Given the description of an element on the screen output the (x, y) to click on. 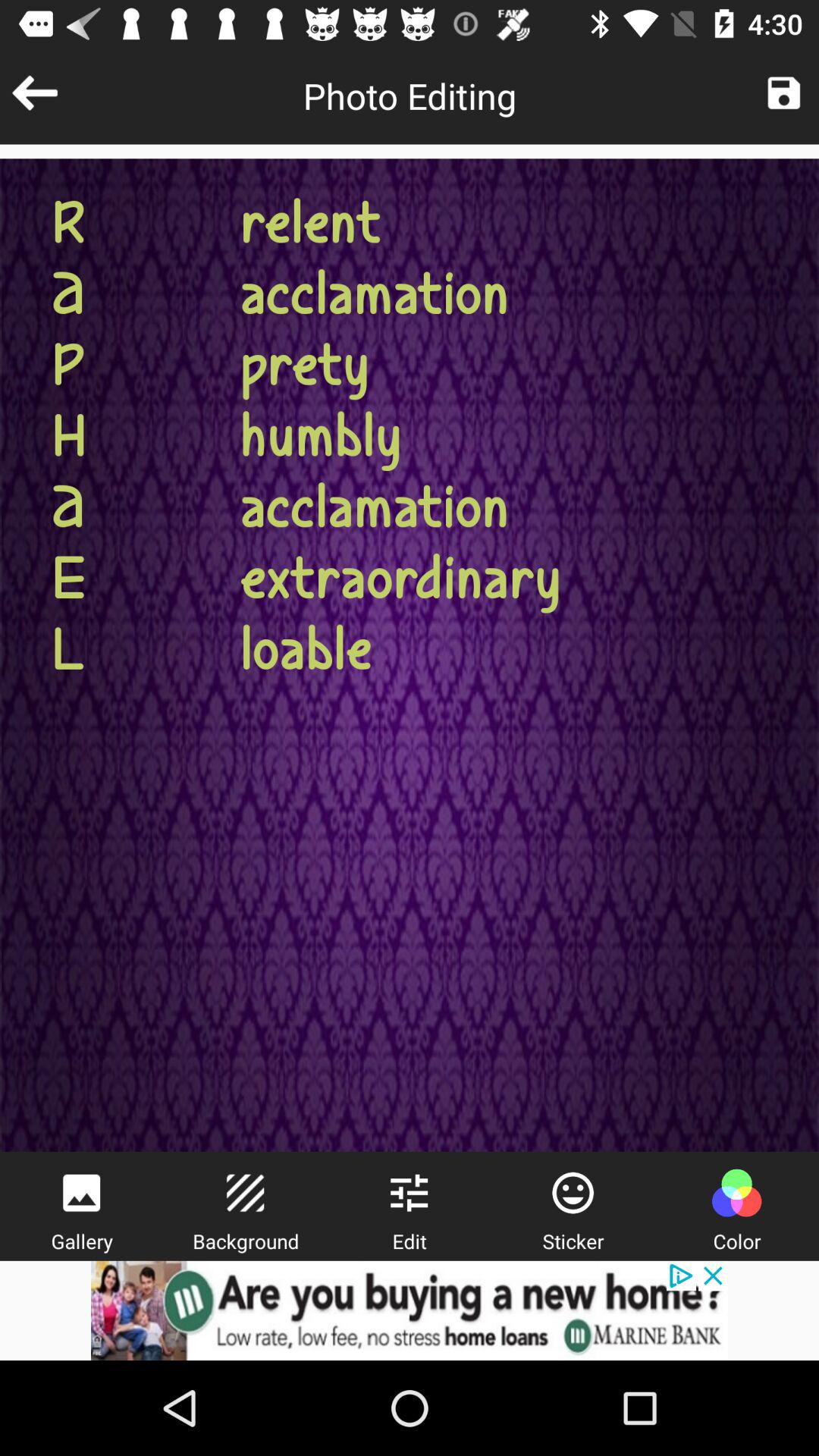
open stickers (572, 1192)
